Given the description of an element on the screen output the (x, y) to click on. 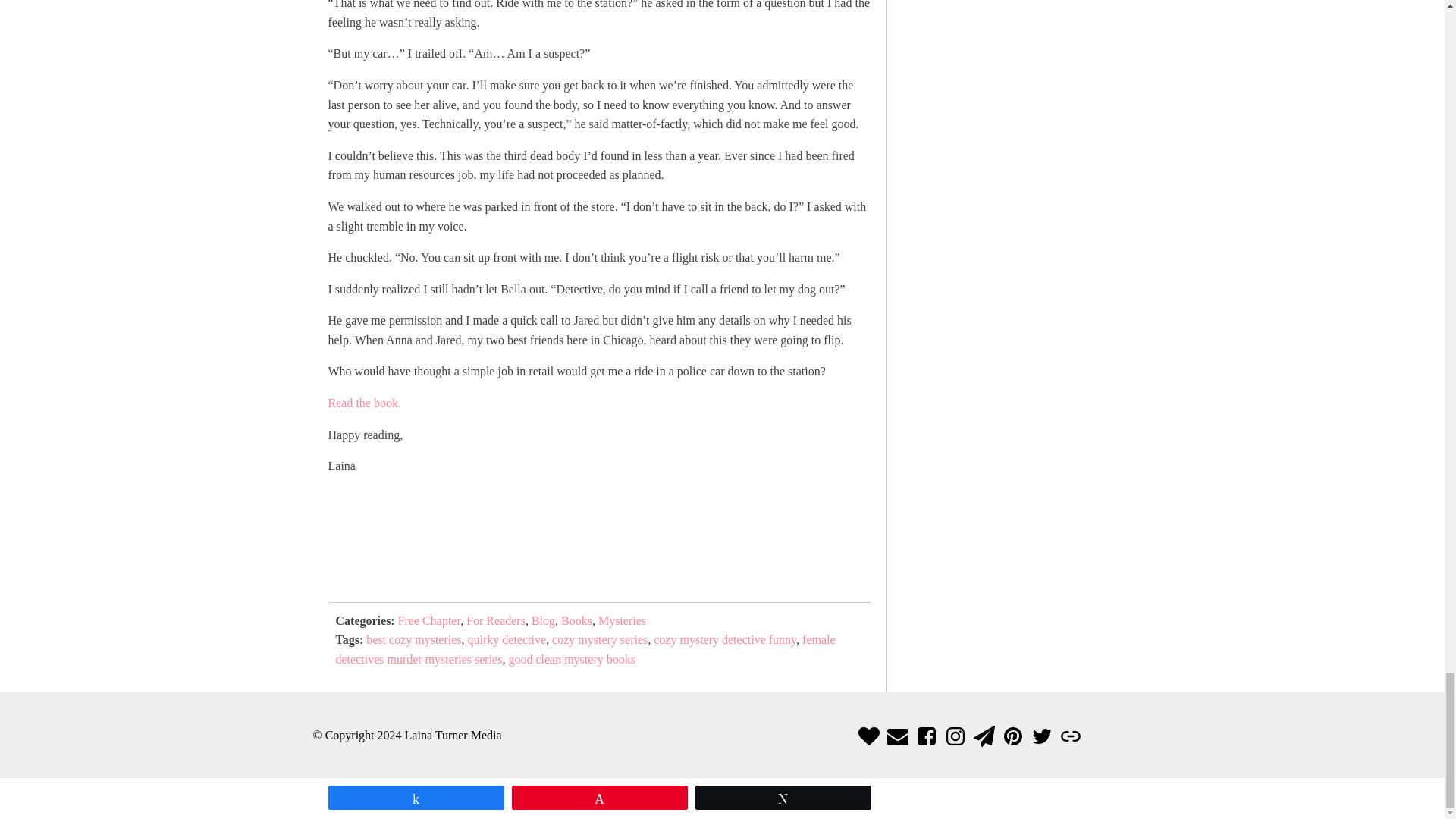
cozy mystery detective funny (724, 639)
good clean mystery books (571, 658)
cozy mystery series (599, 639)
View Laina's LinkTree (1070, 735)
female detectives murder mysteries series (584, 649)
Follow Laina Turner on Twitter (1041, 735)
Follow Laina Turner on Bloglovin' (869, 735)
Follow Laina Turner on Facebook (926, 735)
Mysteries (622, 620)
Read the book. (363, 402)
Sign up for Laina's Newsletter (984, 735)
Follow Laina Turner on Instagram (955, 735)
Blog (542, 620)
Contact Laina Turner (897, 735)
